Given the description of an element on the screen output the (x, y) to click on. 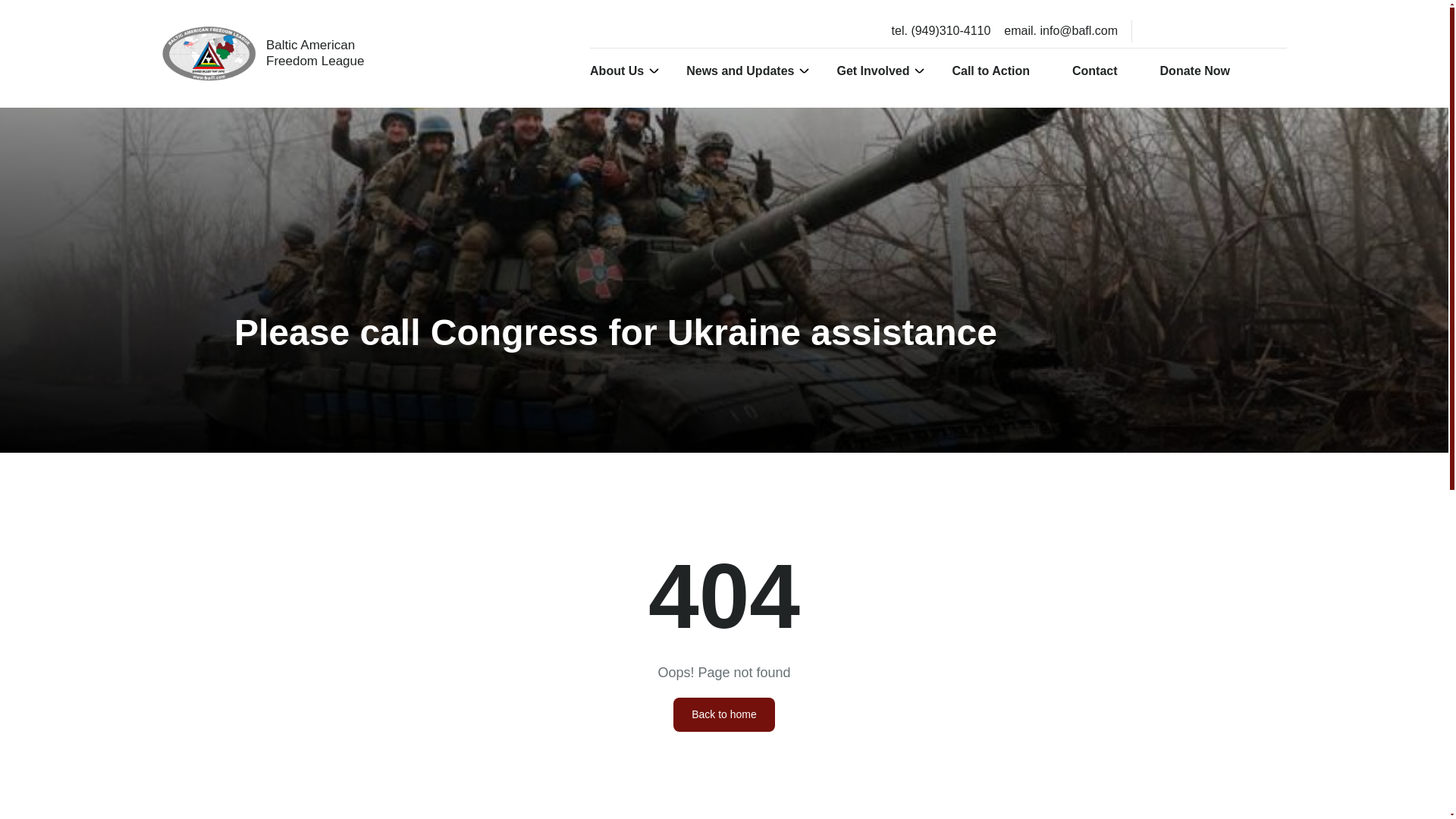
Donate Now (1202, 70)
Call to Action (998, 70)
Contact (1101, 70)
Get Involved (262, 53)
Back to home (879, 70)
About Us (723, 714)
News and Updates (624, 70)
